Given the description of an element on the screen output the (x, y) to click on. 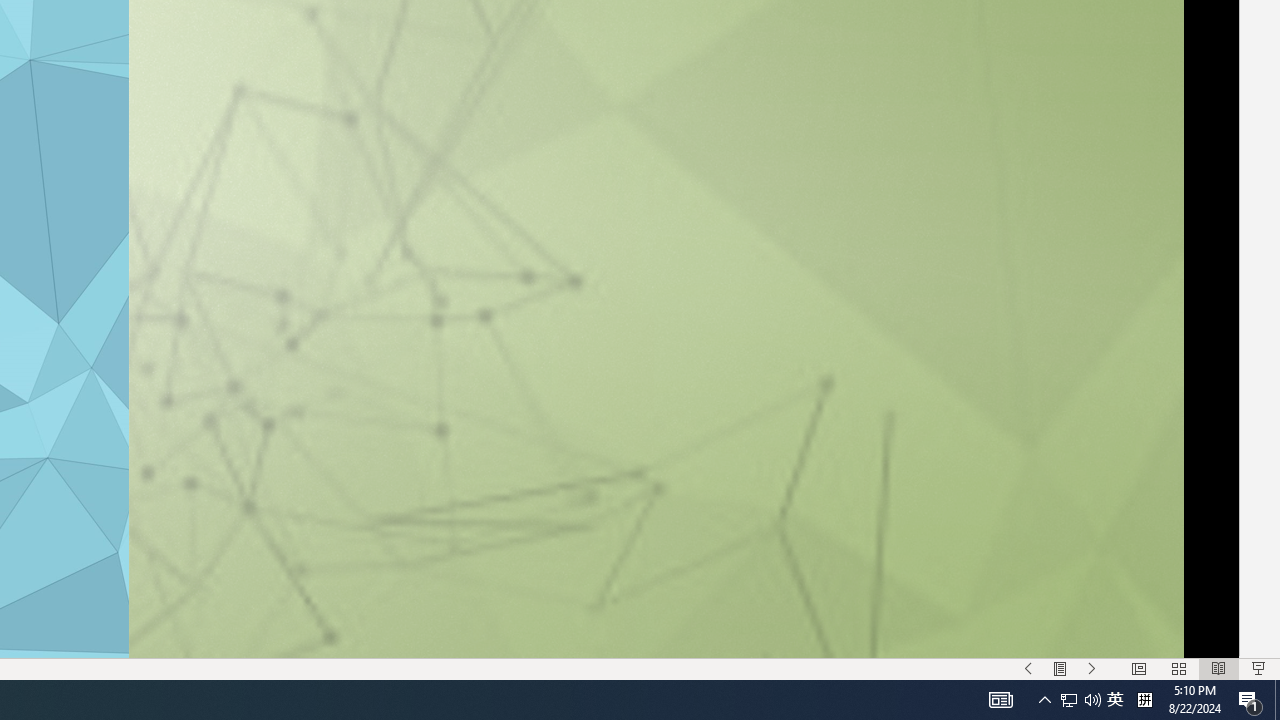
Slide Show Previous On (1028, 668)
Slide Show Next On (1092, 668)
Menu On (1060, 668)
